Given the description of an element on the screen output the (x, y) to click on. 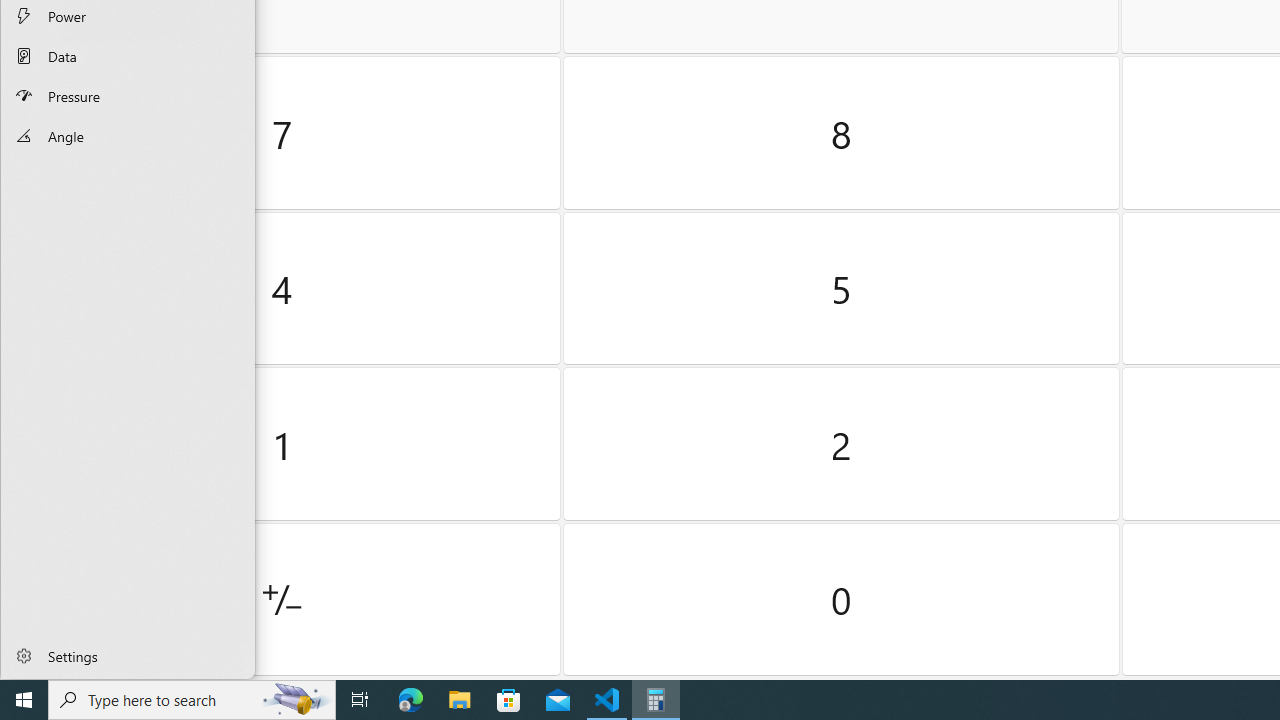
Four (281, 288)
Zero (841, 599)
Eight (841, 133)
Pressure Converter (127, 95)
Positive negative (281, 599)
Five (841, 288)
Angle Converter (127, 136)
Calculator - 1 running window (656, 699)
